Given the description of an element on the screen output the (x, y) to click on. 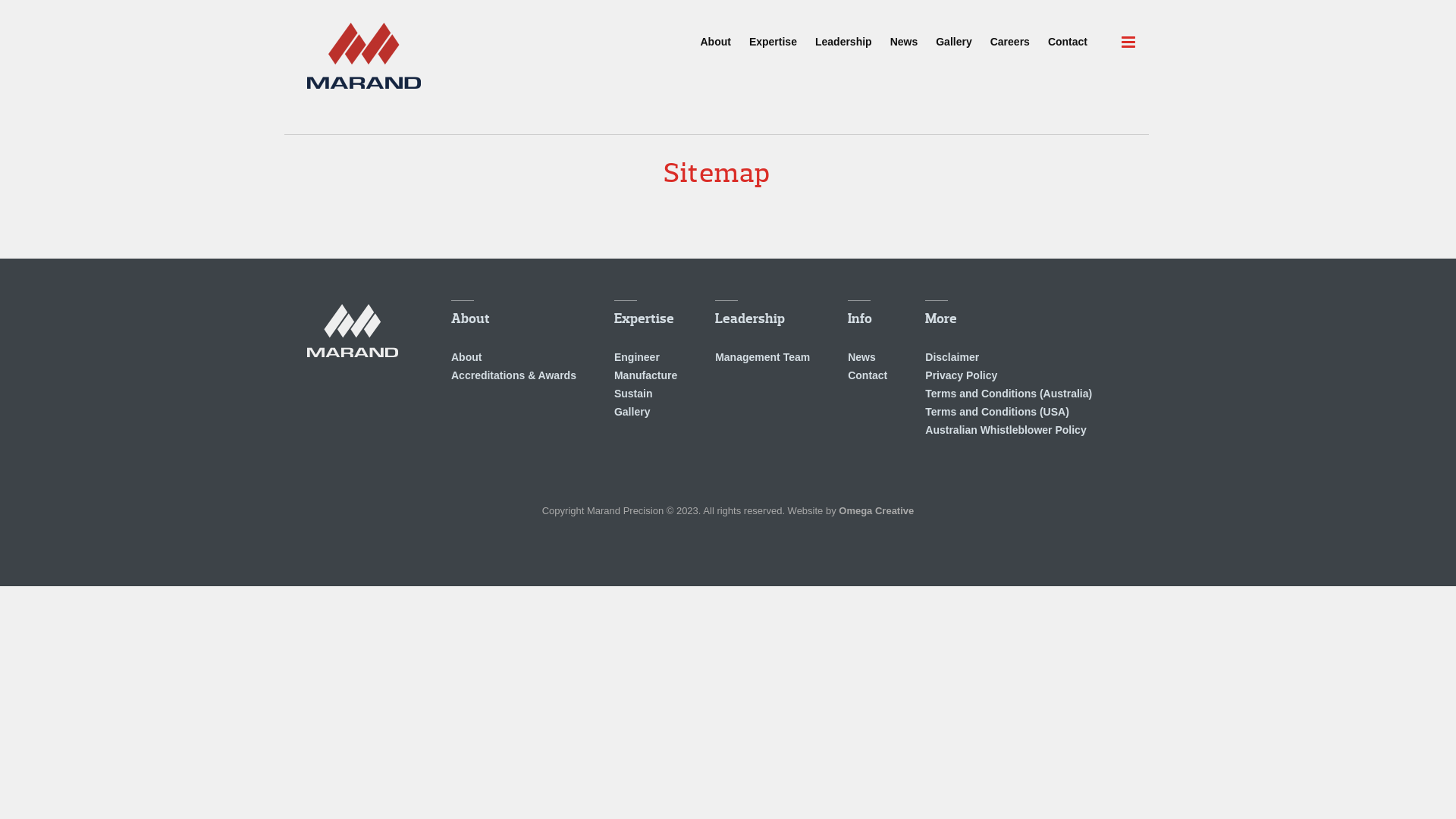
Home Element type: hover (363, 55)
Expertise Element type: text (773, 34)
Omega Creative Element type: text (875, 510)
Contact Element type: text (867, 375)
About Element type: text (513, 314)
Contact Element type: text (1067, 34)
Leadership Element type: text (843, 34)
Disclaimer Element type: text (952, 357)
Engineer Element type: text (636, 357)
Accreditations & Awards Element type: text (513, 375)
Marand Element type: hover (352, 330)
Leadership Element type: text (762, 314)
Manufacture Element type: text (645, 375)
Management Team Element type: text (762, 357)
Terms and Conditions (Australia) Element type: text (1008, 393)
News Element type: text (861, 357)
News Element type: text (904, 34)
Terms and Conditions (USA) Element type: text (997, 411)
Expertise Element type: text (645, 314)
About Element type: text (466, 357)
Australian Whistleblower Policy Element type: text (1005, 429)
About Element type: text (714, 34)
Careers Element type: text (1009, 34)
Sustain Element type: text (633, 393)
Info Element type: text (867, 314)
Gallery Element type: text (953, 34)
More Element type: text (1008, 314)
Privacy Policy Element type: text (961, 375)
Gallery Element type: text (631, 411)
